Given the description of an element on the screen output the (x, y) to click on. 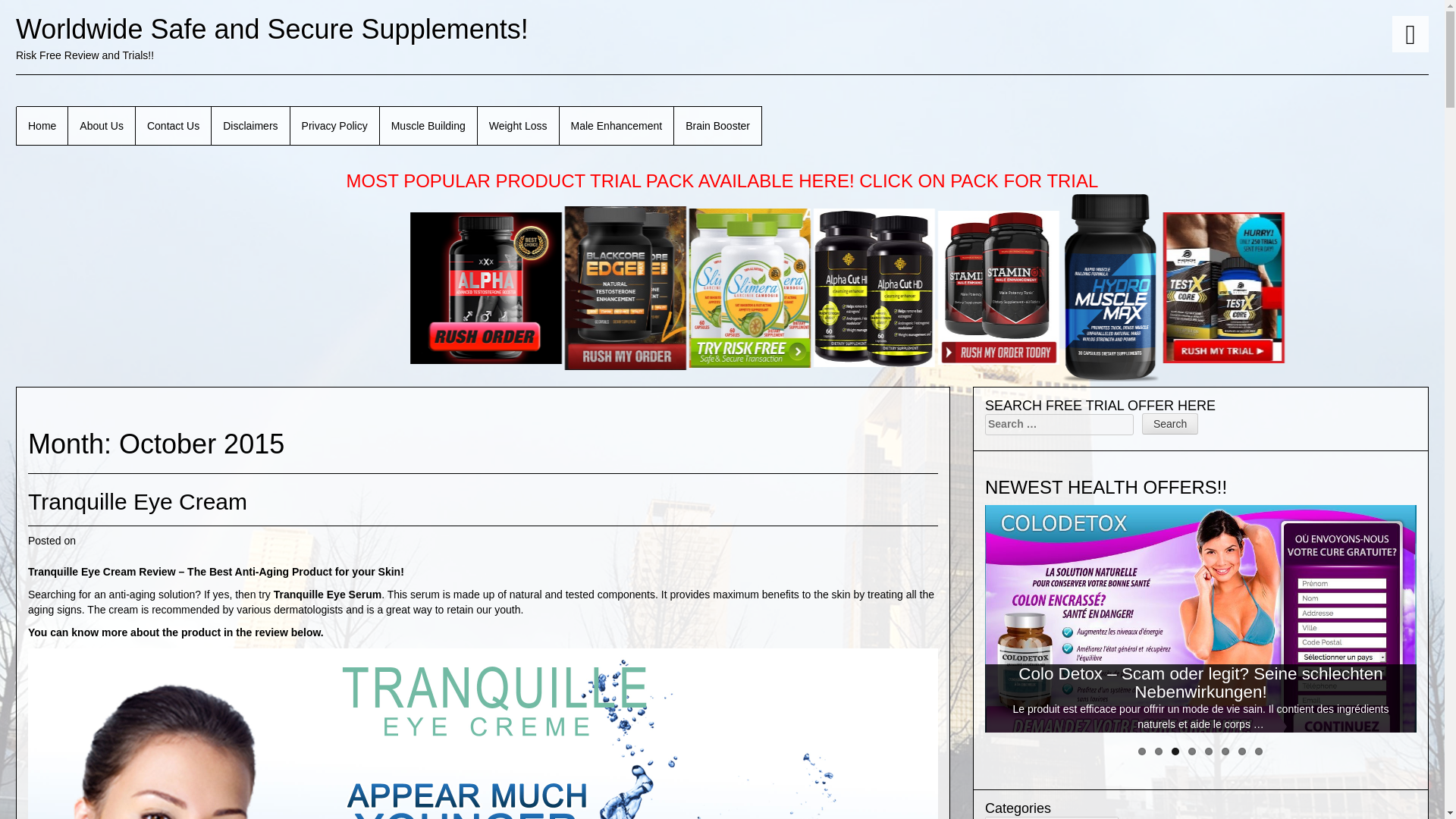
Home (42, 125)
About Us (101, 125)
Search (1169, 423)
Search (1169, 423)
Search for: (1059, 424)
Privacy Policy (334, 125)
Search (1169, 423)
Weight Loss (518, 125)
Tranquille Eye Serum (327, 594)
Contact Us (173, 125)
Tranquille Eye Cream (137, 501)
Disclaimers (250, 125)
Swich to Photoframe Mode (1409, 33)
Male Enhancement (617, 125)
